Given the description of an element on the screen output the (x, y) to click on. 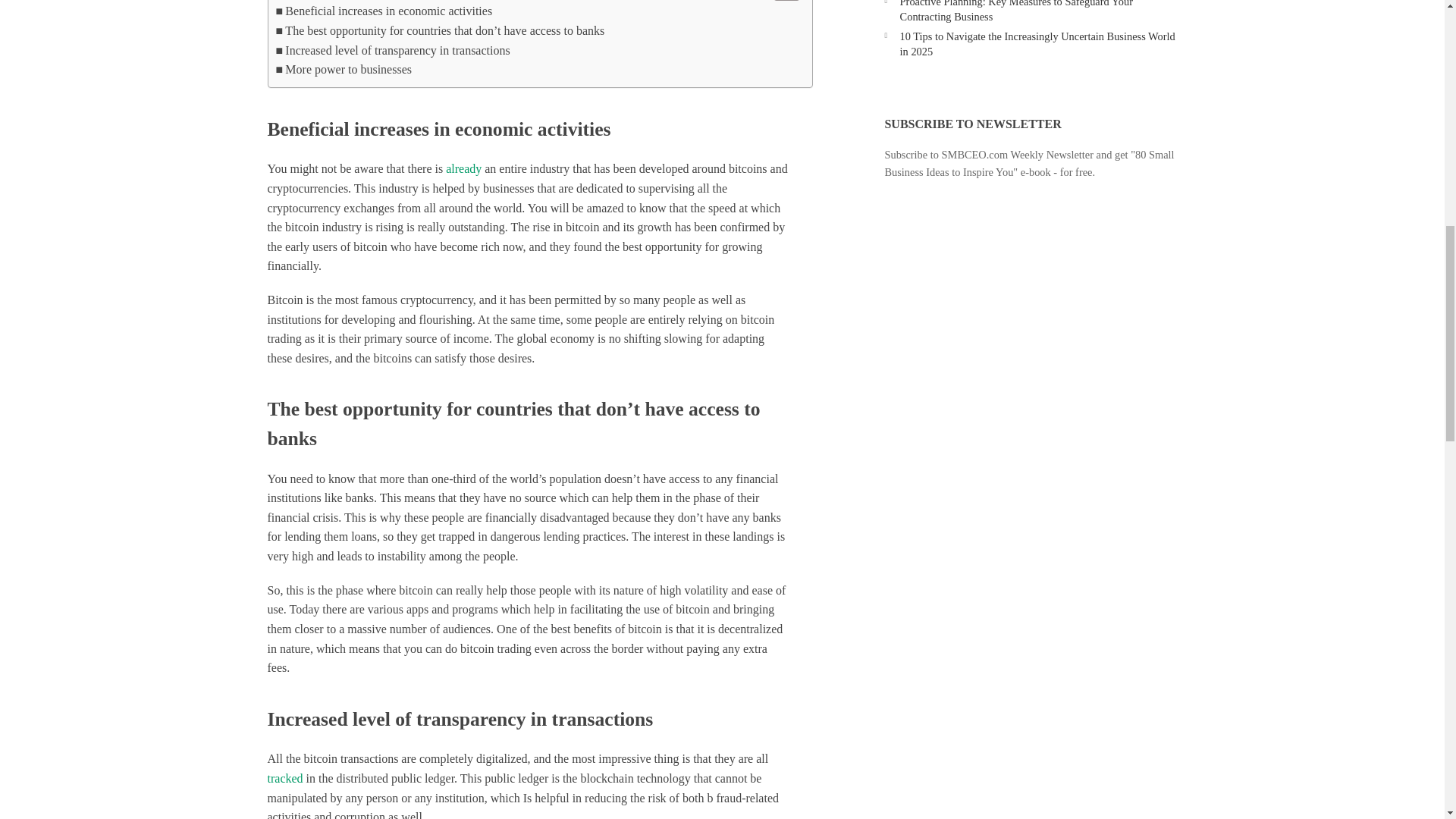
tracked (284, 778)
More power to businesses (344, 69)
Beneficial increases in economic activities (384, 11)
Increased level of transparency in transactions (393, 50)
already (463, 168)
Increased level of transparency in transactions (393, 50)
Beneficial increases in economic activities (384, 11)
More power to businesses (344, 69)
